Given the description of an element on the screen output the (x, y) to click on. 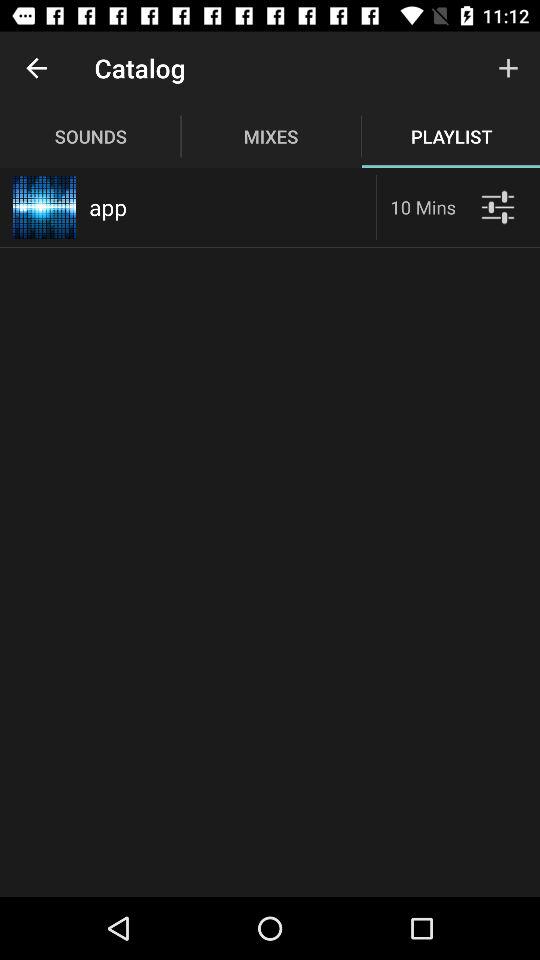
select the app next to catalog item (36, 68)
